Given the description of an element on the screen output the (x, y) to click on. 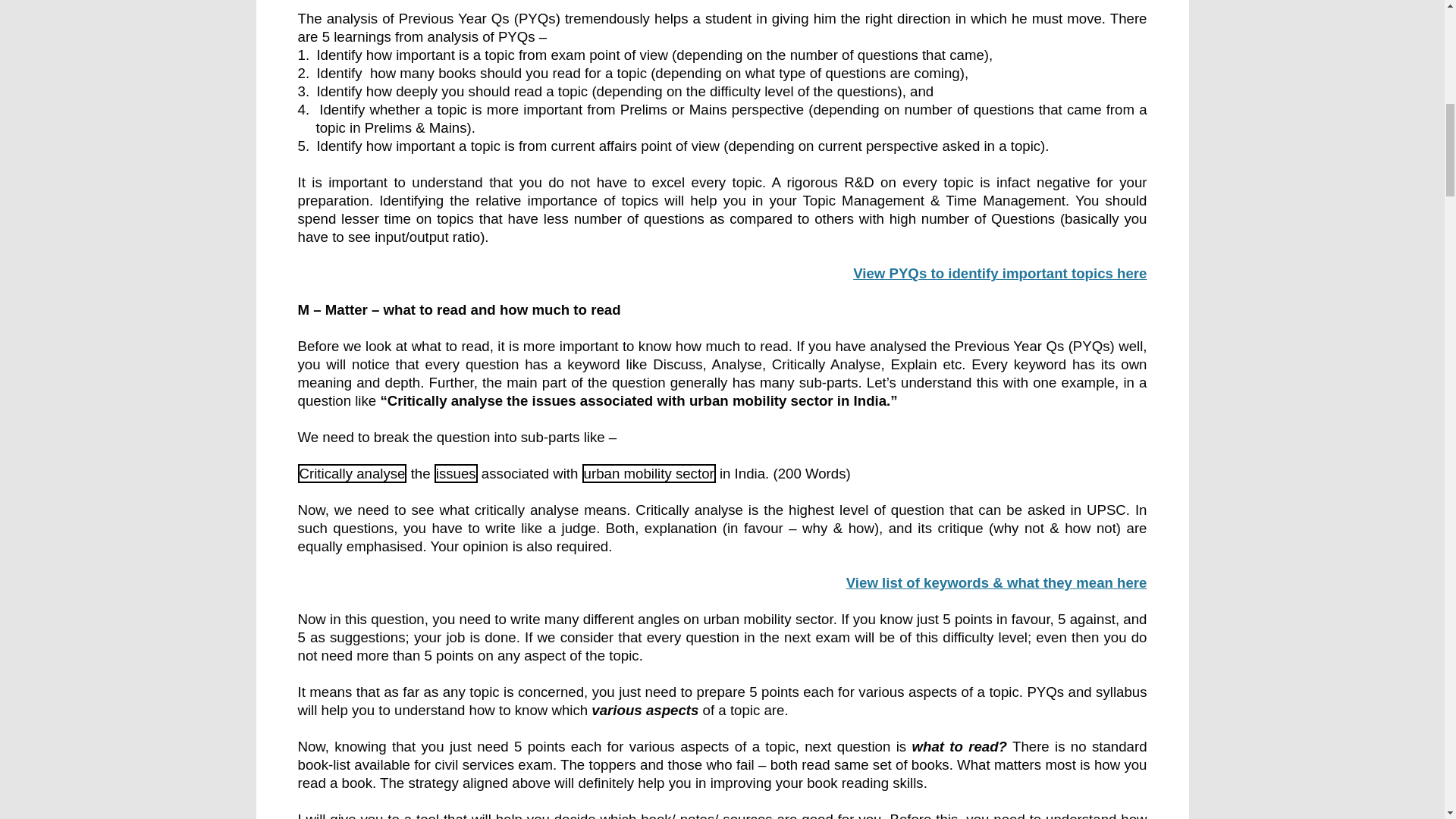
View PYQs to identify important topics here (1000, 273)
